Given the description of an element on the screen output the (x, y) to click on. 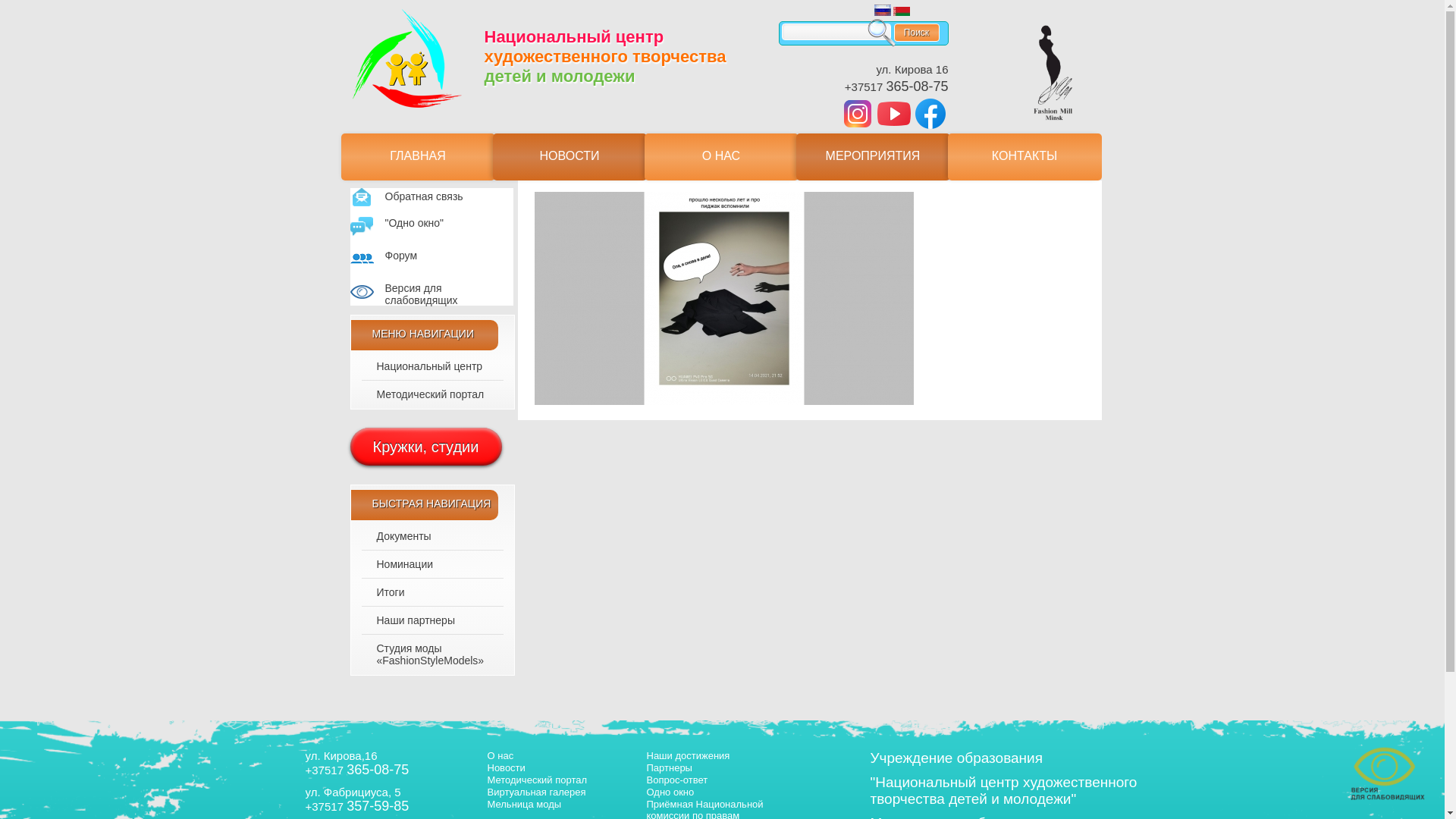
+37517 365-08-75 Element type: text (356, 769)
+37517 357-59-85 Element type: text (356, 806)
+37517 365-08-75 Element type: text (896, 86)
